Given the description of an element on the screen output the (x, y) to click on. 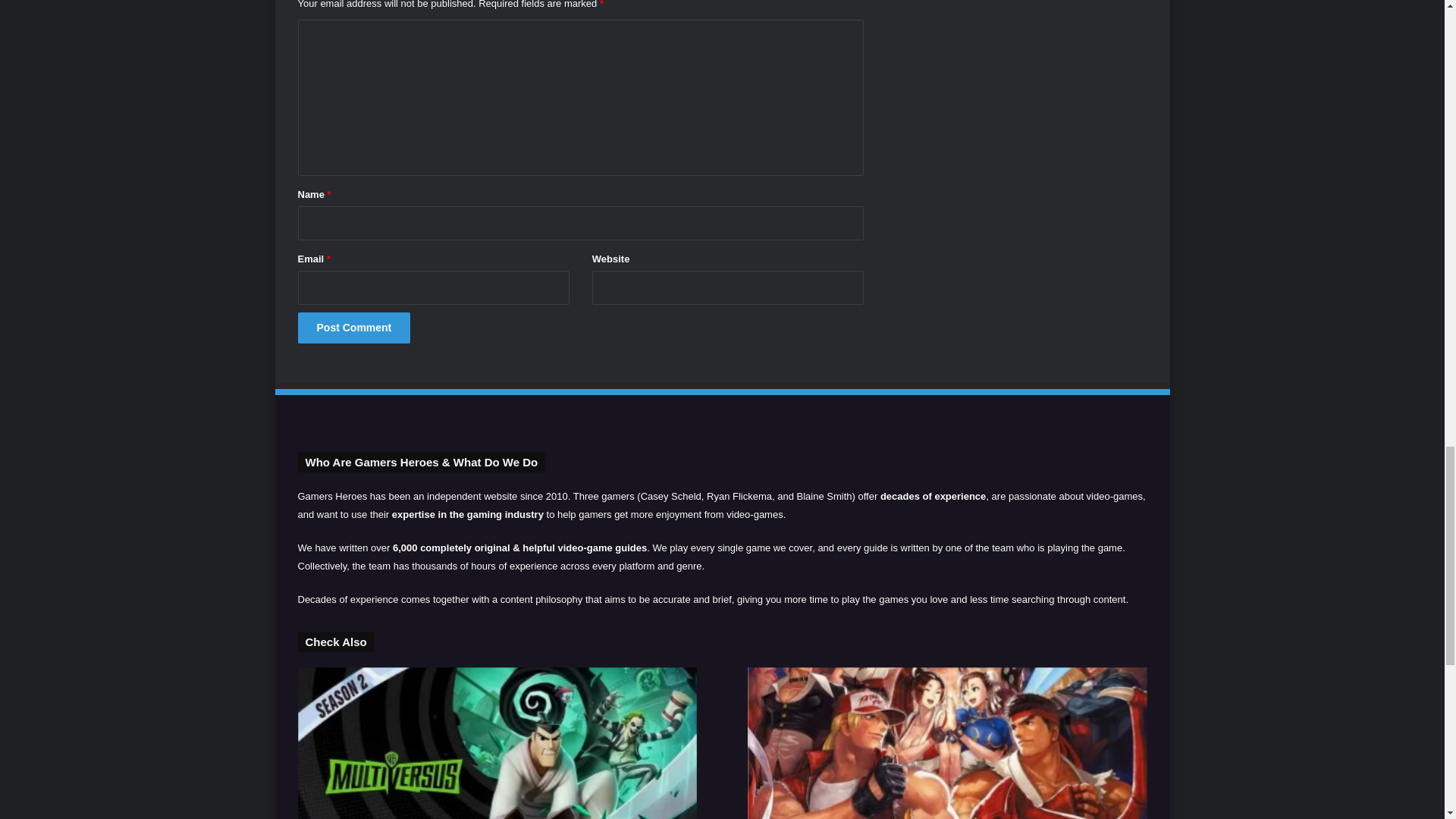
Post Comment (353, 327)
